Given the description of an element on the screen output the (x, y) to click on. 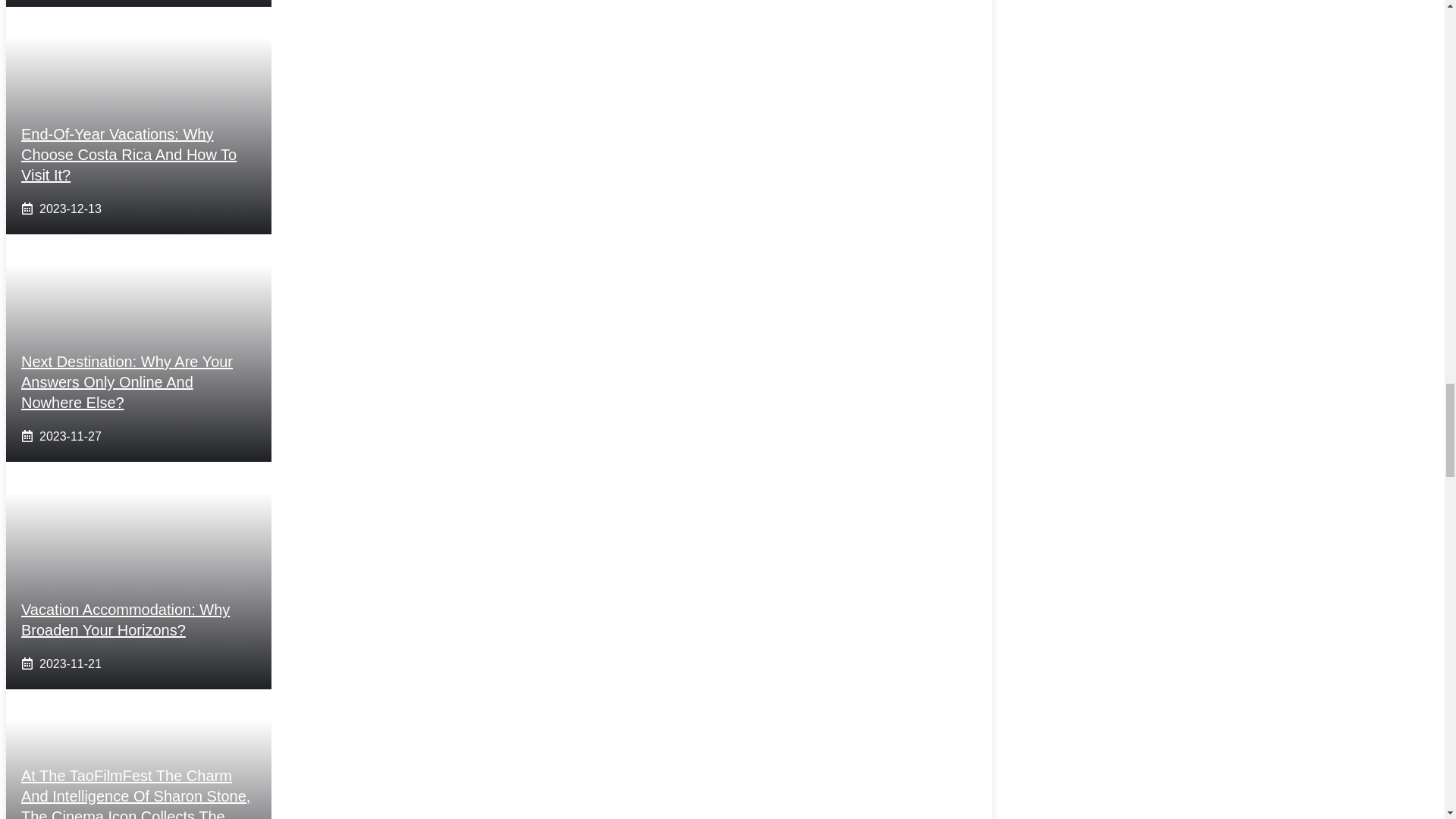
Vacation Accommodation: Why Broaden Your Horizons? (125, 619)
